Given the description of an element on the screen output the (x, y) to click on. 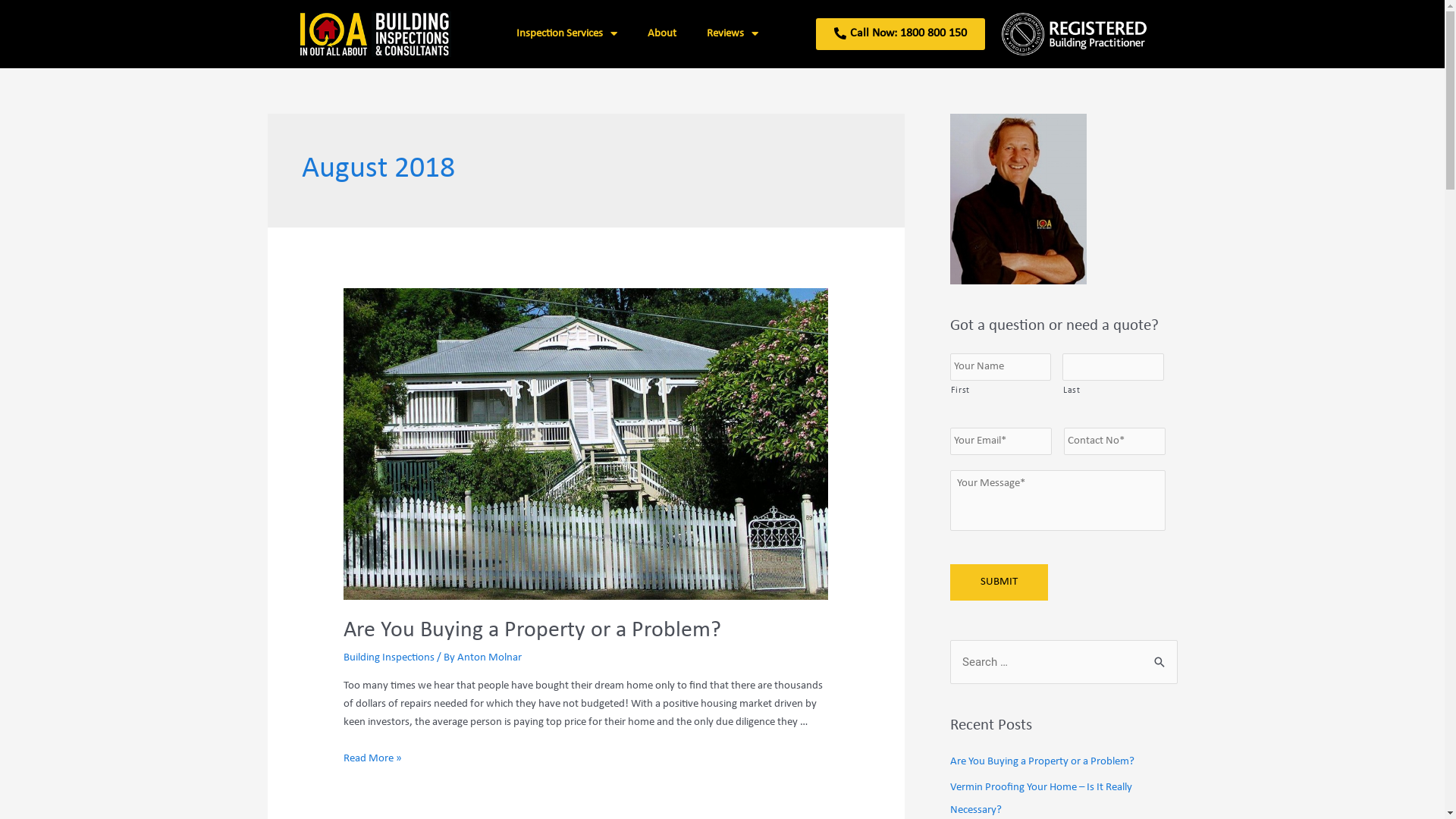
Search Element type: text (1160, 660)
Building Inspections Element type: text (388, 657)
Inspection Services Element type: text (566, 33)
Are You Buying a Property or a Problem? Element type: text (532, 630)
Are You Buying a Property or a Problem? Element type: text (1041, 761)
Anton Molnar Element type: text (489, 657)
About Element type: text (661, 33)
SUBMIT Element type: text (998, 582)
Reviews Element type: text (732, 33)
Call Now: 1800 800 150 Element type: text (900, 34)
